Given the description of an element on the screen output the (x, y) to click on. 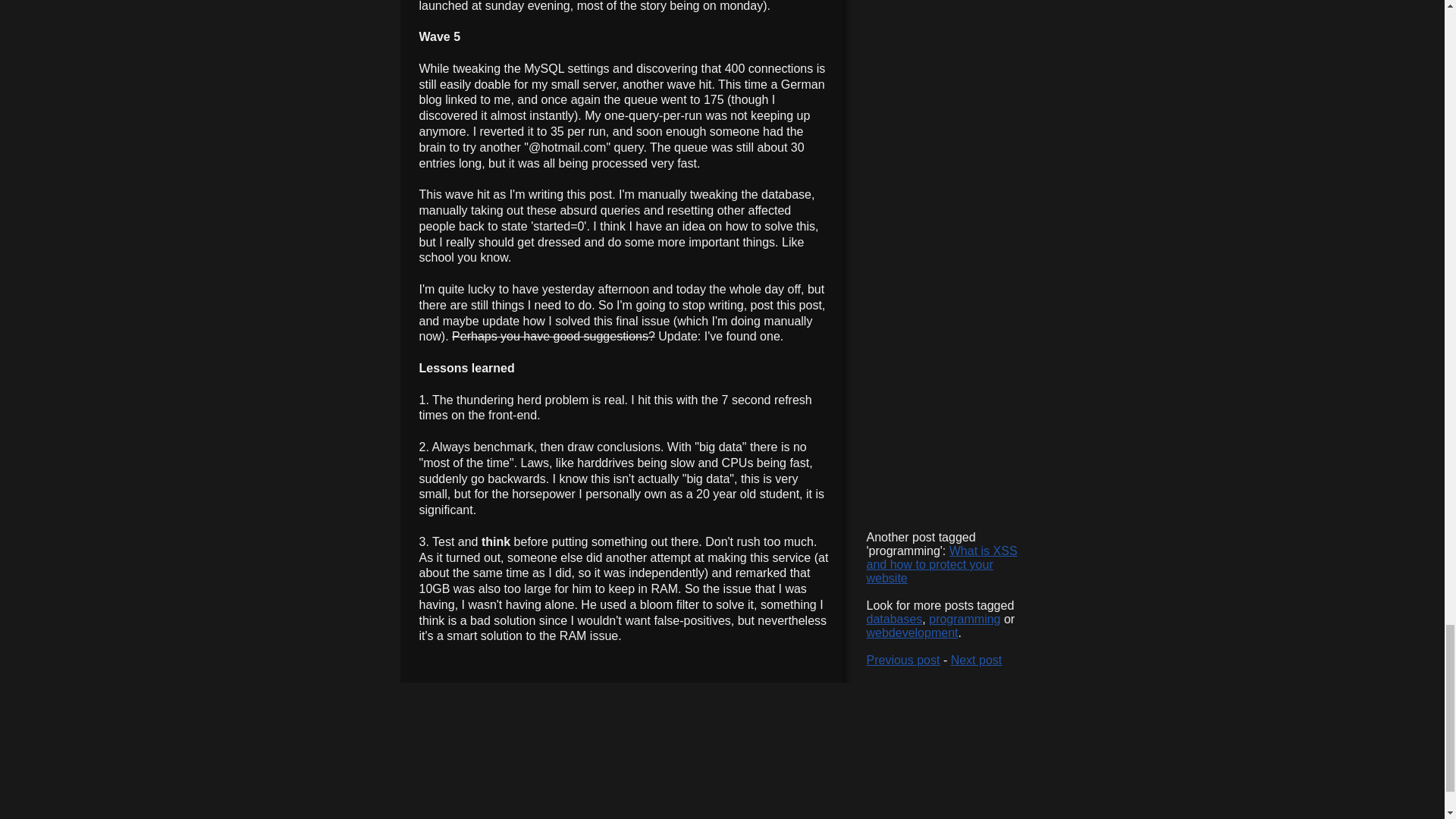
Number of posts with this tag: 11 (964, 618)
Next post (976, 659)
databases (893, 618)
programming (964, 618)
Number of posts with this tag: 2 (893, 618)
Number of posts with this tag: 21 (912, 632)
webdevelopment (912, 632)
Previous post (902, 659)
What is XSS and how to protect your website (941, 564)
